Given the description of an element on the screen output the (x, y) to click on. 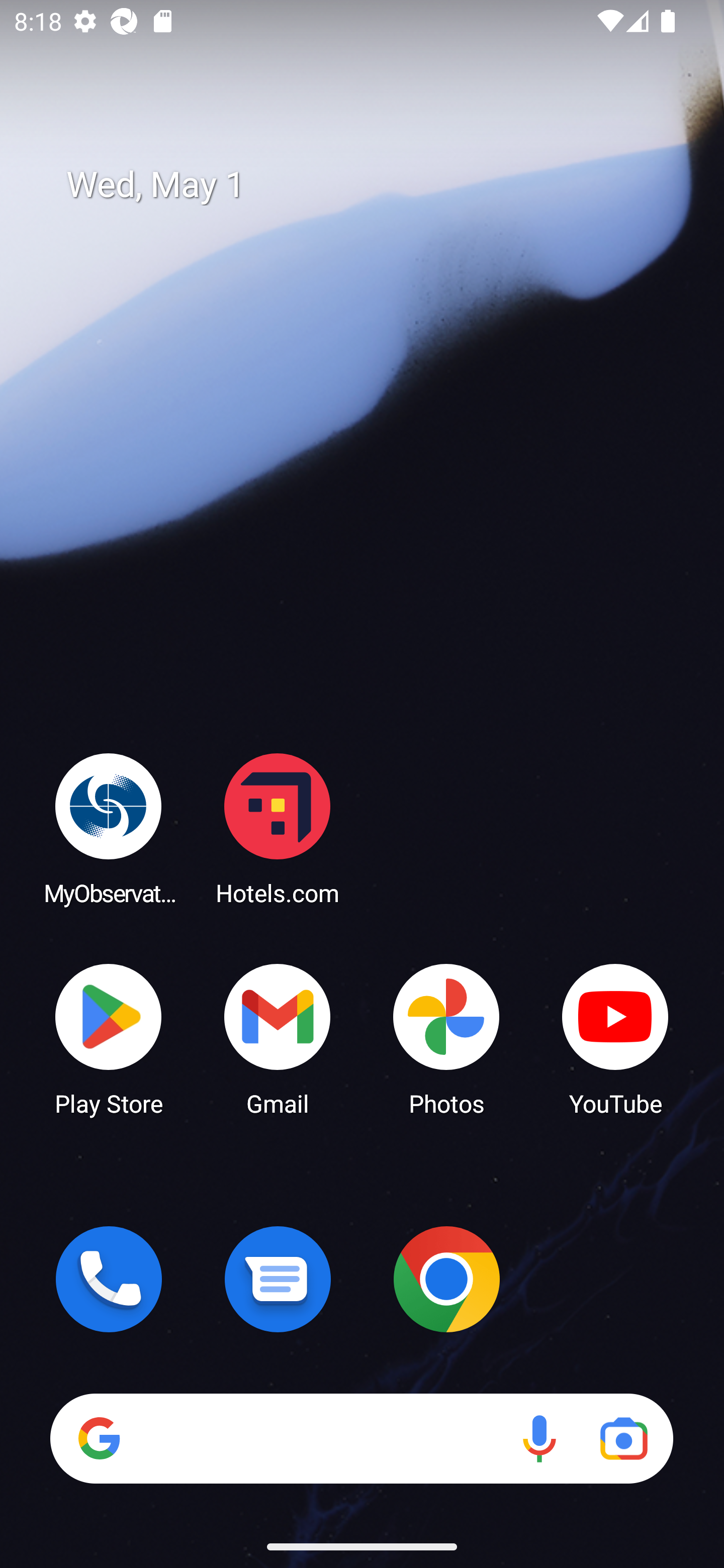
Wed, May 1 (375, 184)
MyObservatory (108, 828)
Hotels.com (277, 828)
Play Store (108, 1038)
Gmail (277, 1038)
Photos (445, 1038)
YouTube (615, 1038)
Phone (108, 1279)
Messages (277, 1279)
Chrome (446, 1279)
Search Voice search Google Lens (361, 1438)
Voice search (539, 1438)
Google Lens (623, 1438)
